Given the description of an element on the screen output the (x, y) to click on. 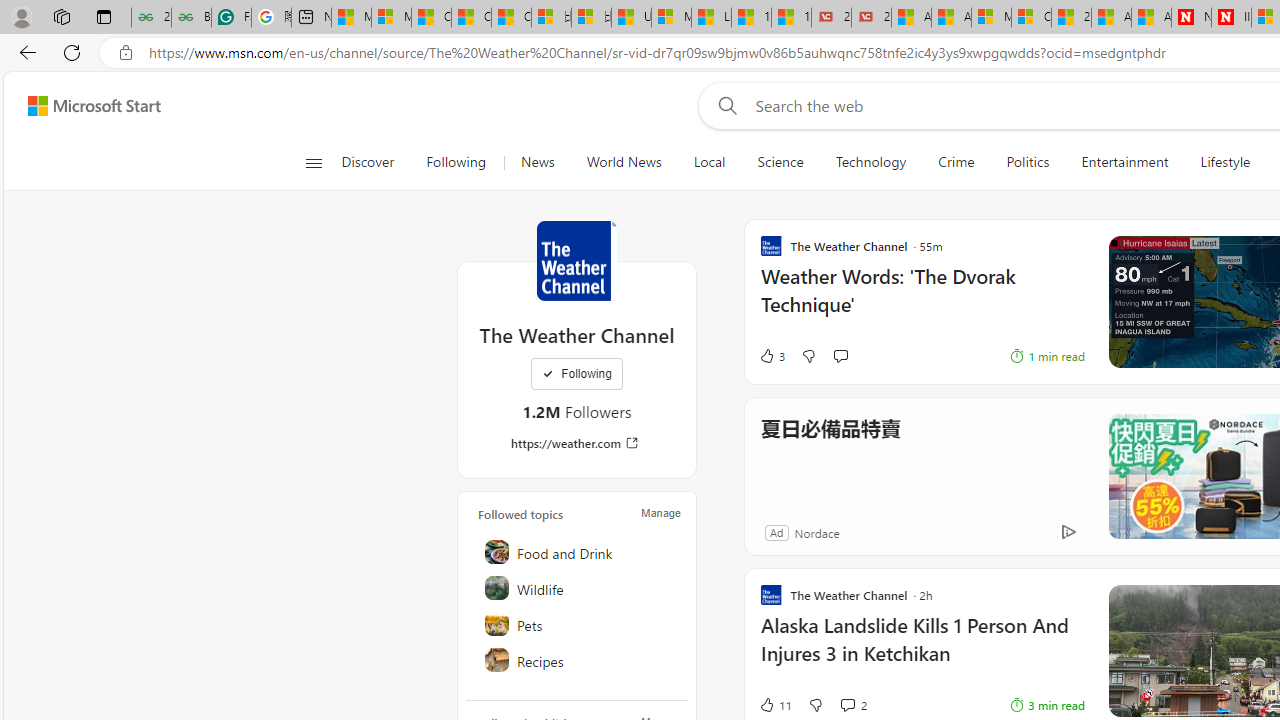
20 Ways to Boost Your Protein Intake at Every Meal (1071, 17)
Wildlife (578, 587)
3 Like (771, 355)
Weather Words: 'The Dvorak Technique' (922, 300)
Lifestyle - MSN (711, 17)
